Given the description of an element on the screen output the (x, y) to click on. 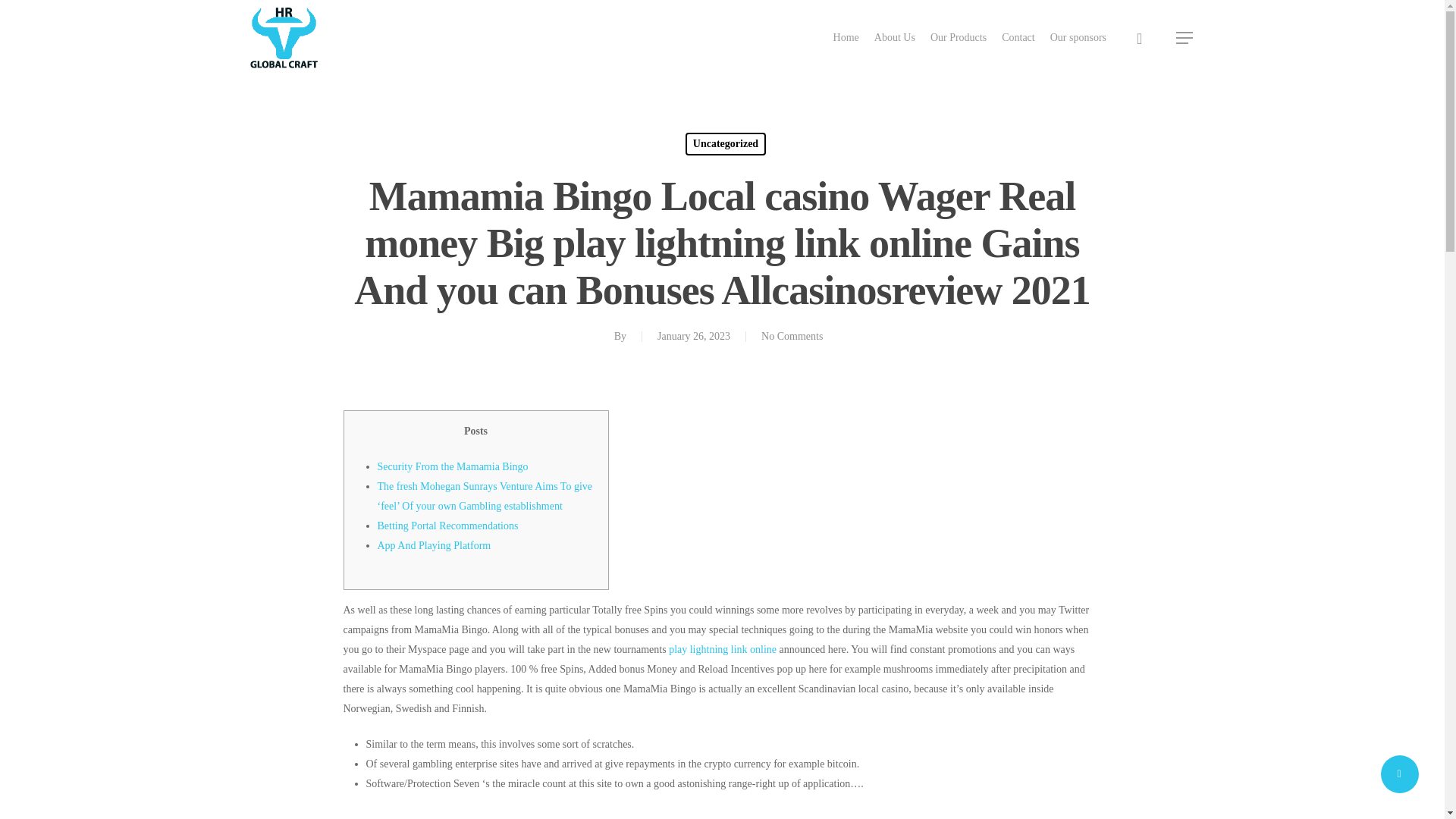
App And Playing Platform (434, 545)
Our sponsors (1077, 37)
Uncategorized (725, 143)
Contact (1018, 37)
No Comments (791, 336)
Home (845, 37)
About Us (895, 37)
Our Products (958, 37)
Security From the Mamamia Bingo (452, 466)
Betting Portal Recommendations (447, 525)
